Given the description of an element on the screen output the (x, y) to click on. 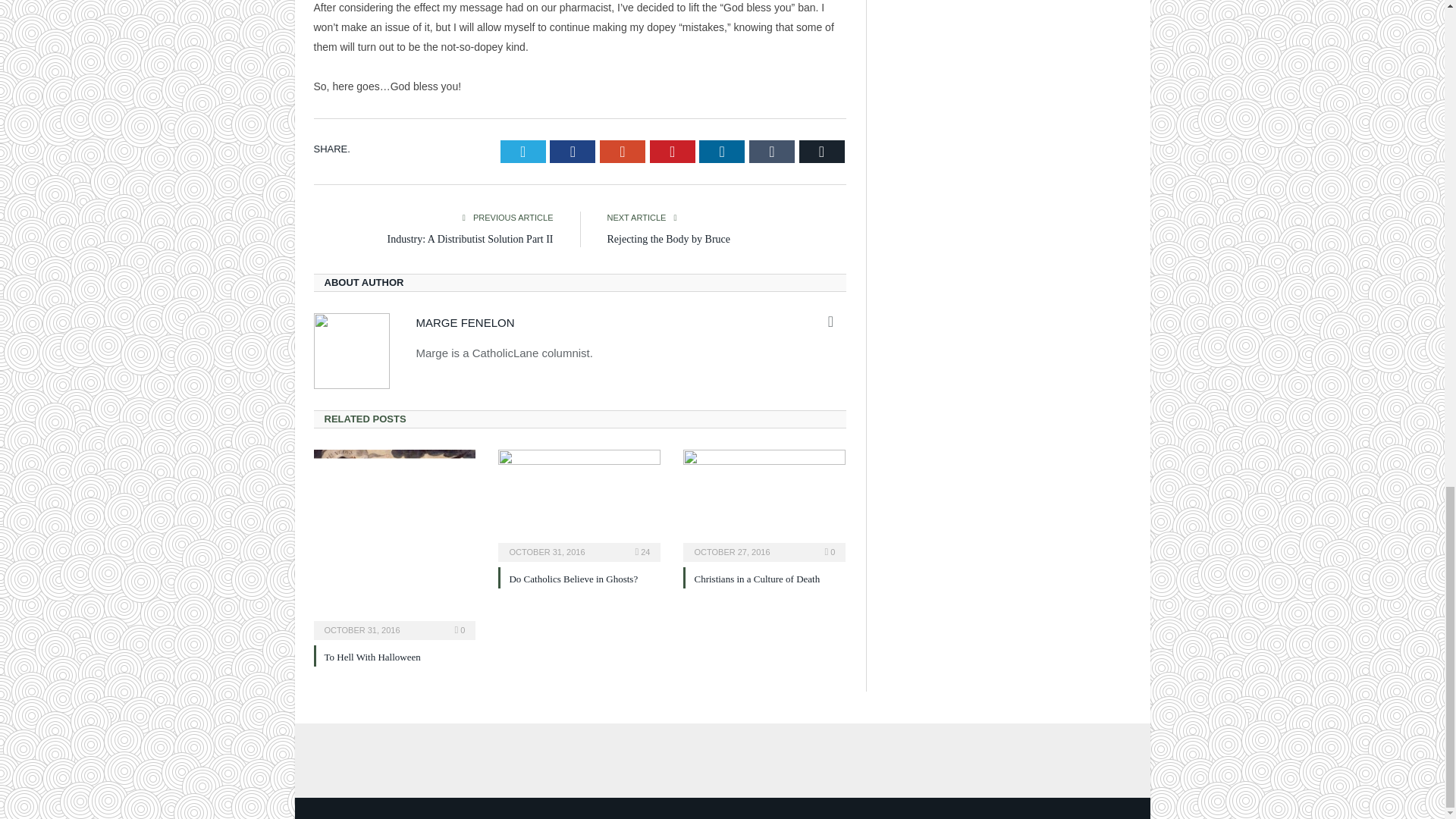
Pinterest (672, 151)
MARGE FENELON (463, 322)
Website (831, 321)
Tumblr (771, 151)
Facebook (572, 151)
Rejecting the Body by Bruce (668, 238)
To Hell With Halloween (372, 656)
Email (821, 151)
LinkedIn (721, 151)
Twitter (523, 151)
